Given the description of an element on the screen output the (x, y) to click on. 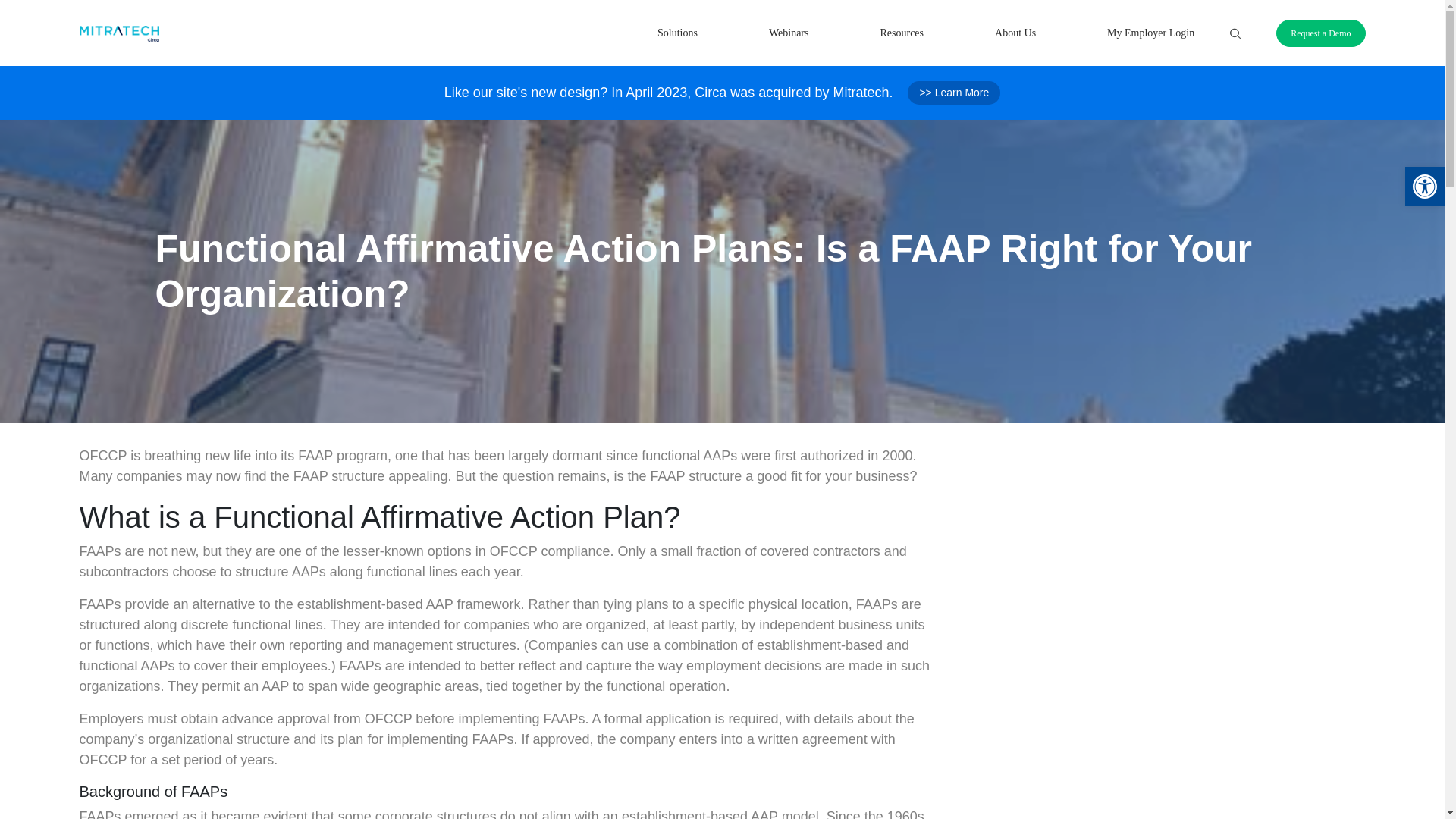
Accessibility Tools (1424, 186)
